Given the description of an element on the screen output the (x, y) to click on. 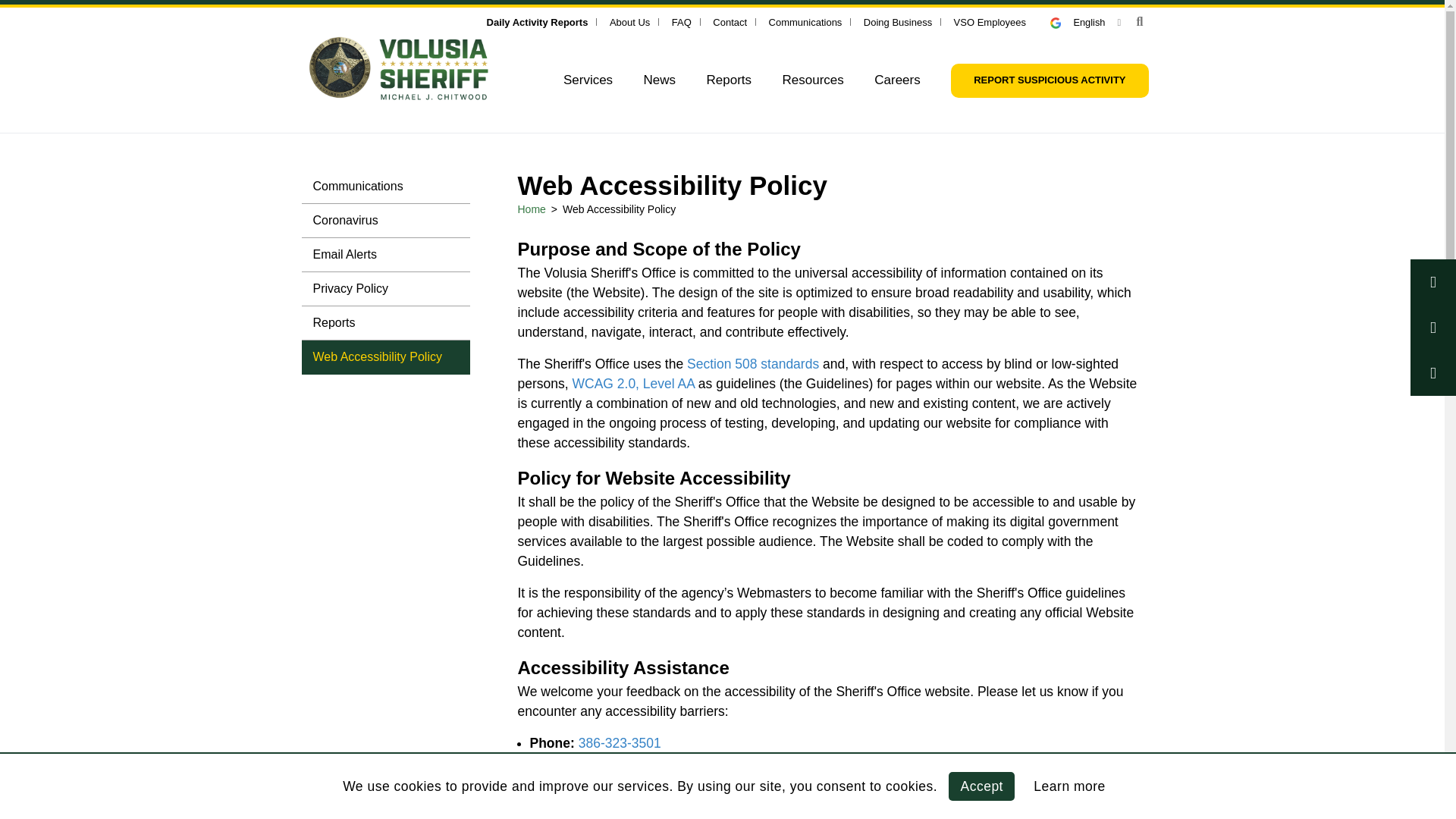
Daily Activity Reports (537, 21)
FAQ (681, 21)
Contact (729, 21)
Communications (805, 21)
English (1085, 21)
VSO Employees (989, 21)
Translate (1061, 22)
Translate (1085, 21)
About Us (629, 21)
Doing Business (897, 21)
